Given the description of an element on the screen output the (x, y) to click on. 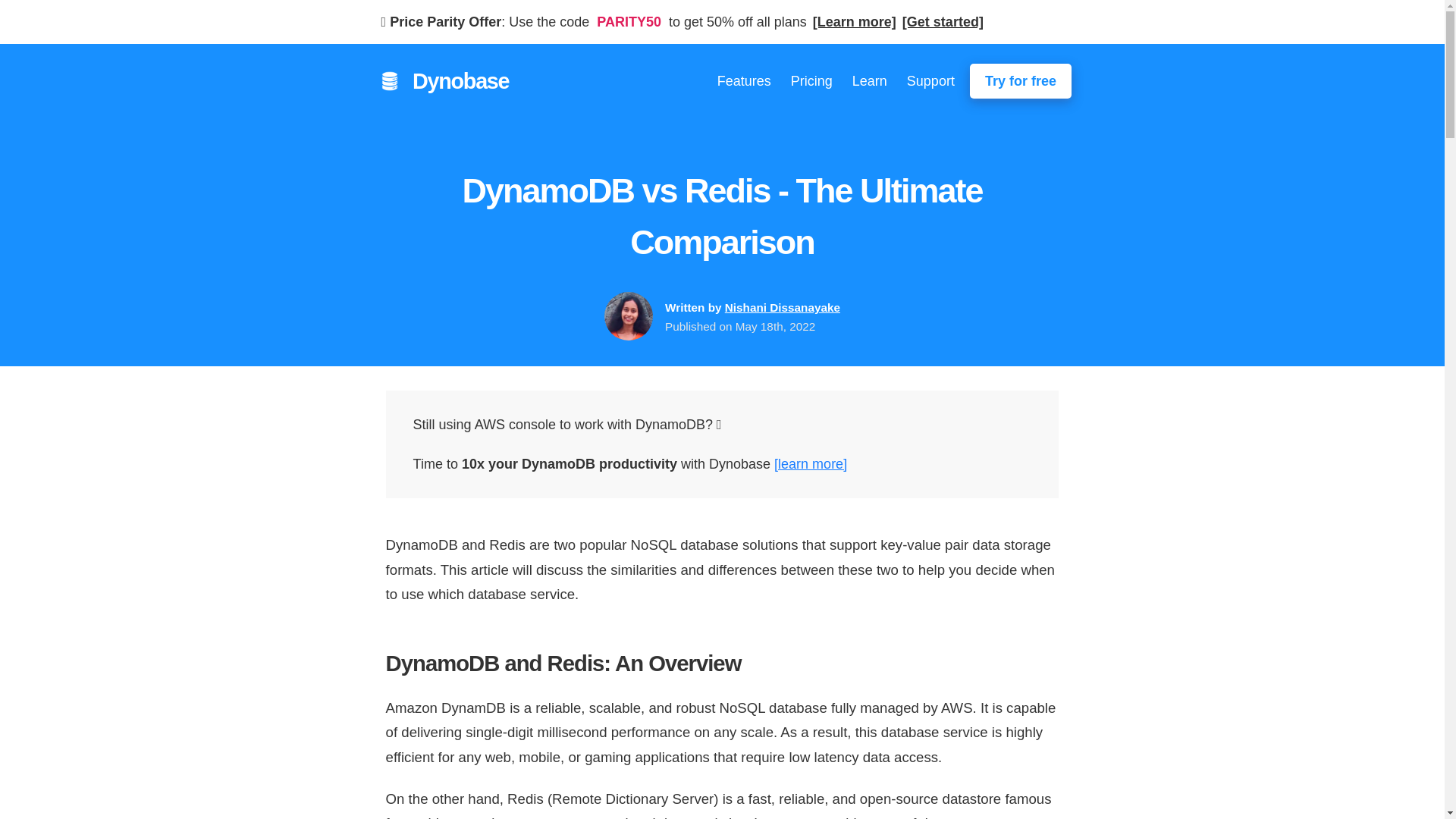
Dynobase (457, 81)
Support (931, 80)
Learn (868, 80)
Features (744, 80)
Try for free (1020, 80)
Nishani Dissanayake (782, 307)
Try for free (1021, 80)
Pricing (811, 80)
